Given the description of an element on the screen output the (x, y) to click on. 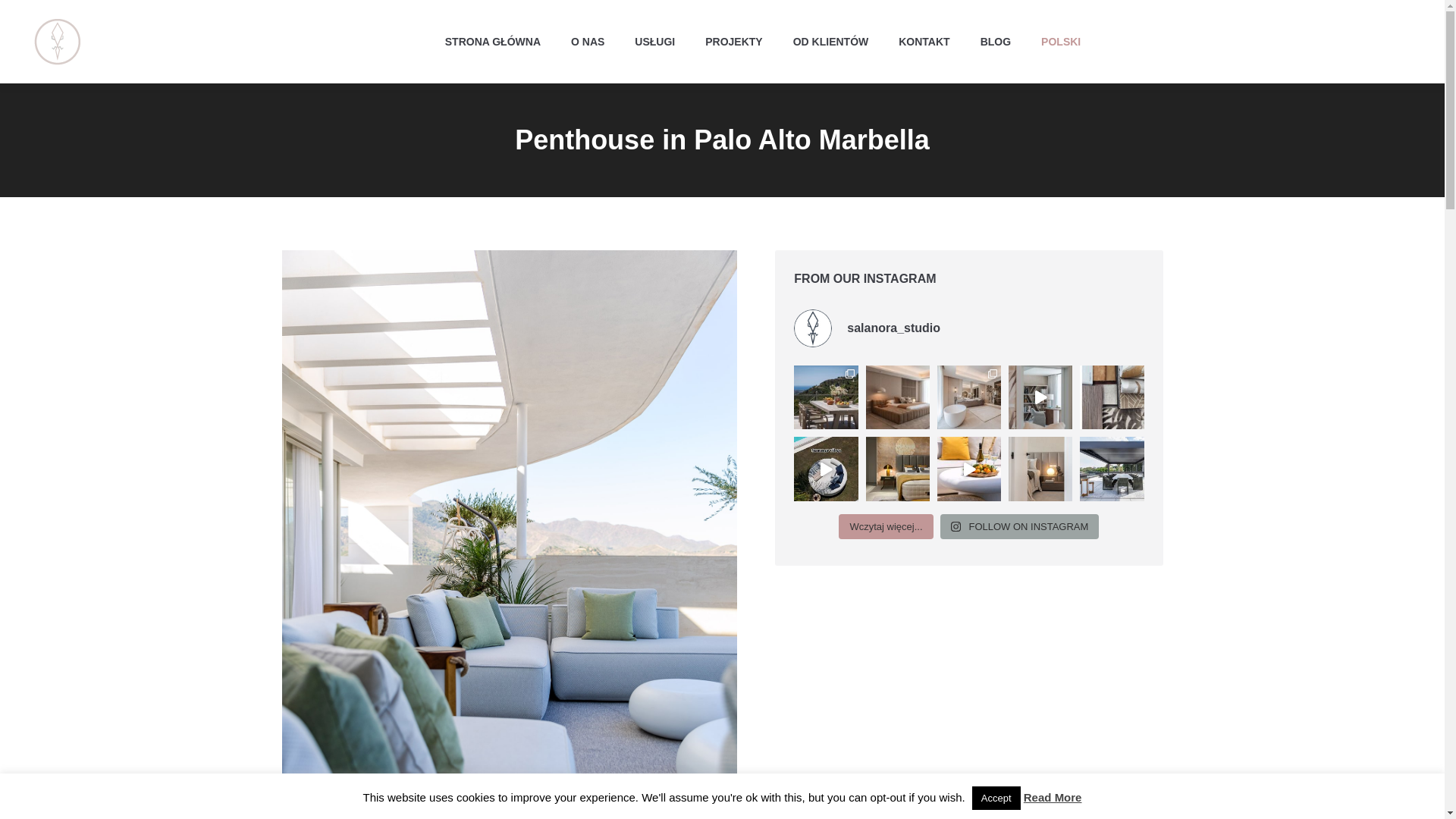
Polski (1060, 41)
BLOG (995, 41)
PROJEKTY (733, 41)
O NAS (587, 41)
POLSKI (1060, 41)
KONTAKT (923, 41)
